Given the description of an element on the screen output the (x, y) to click on. 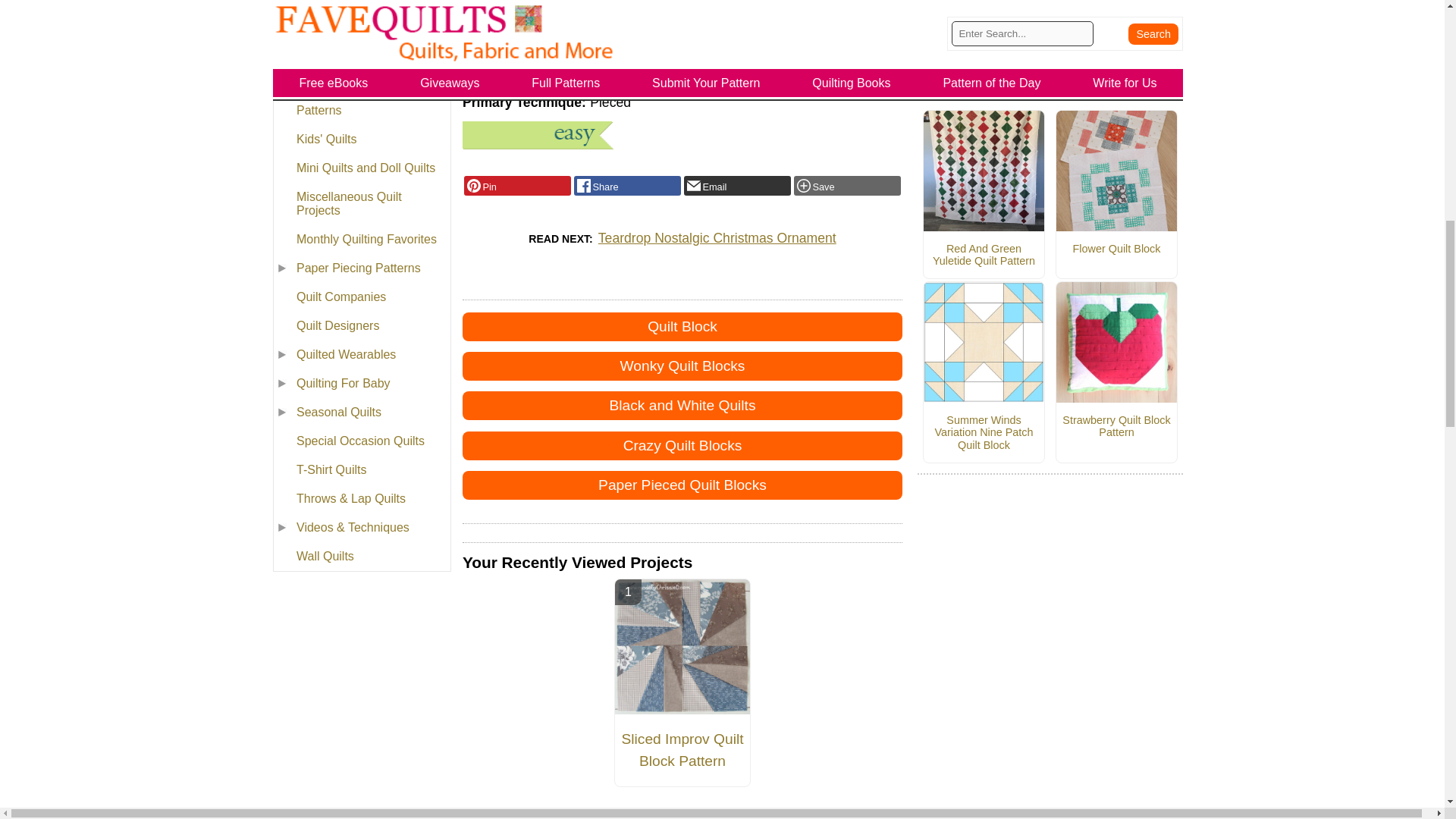
Email (737, 185)
Facebook (627, 185)
Add (847, 185)
